Given the description of an element on the screen output the (x, y) to click on. 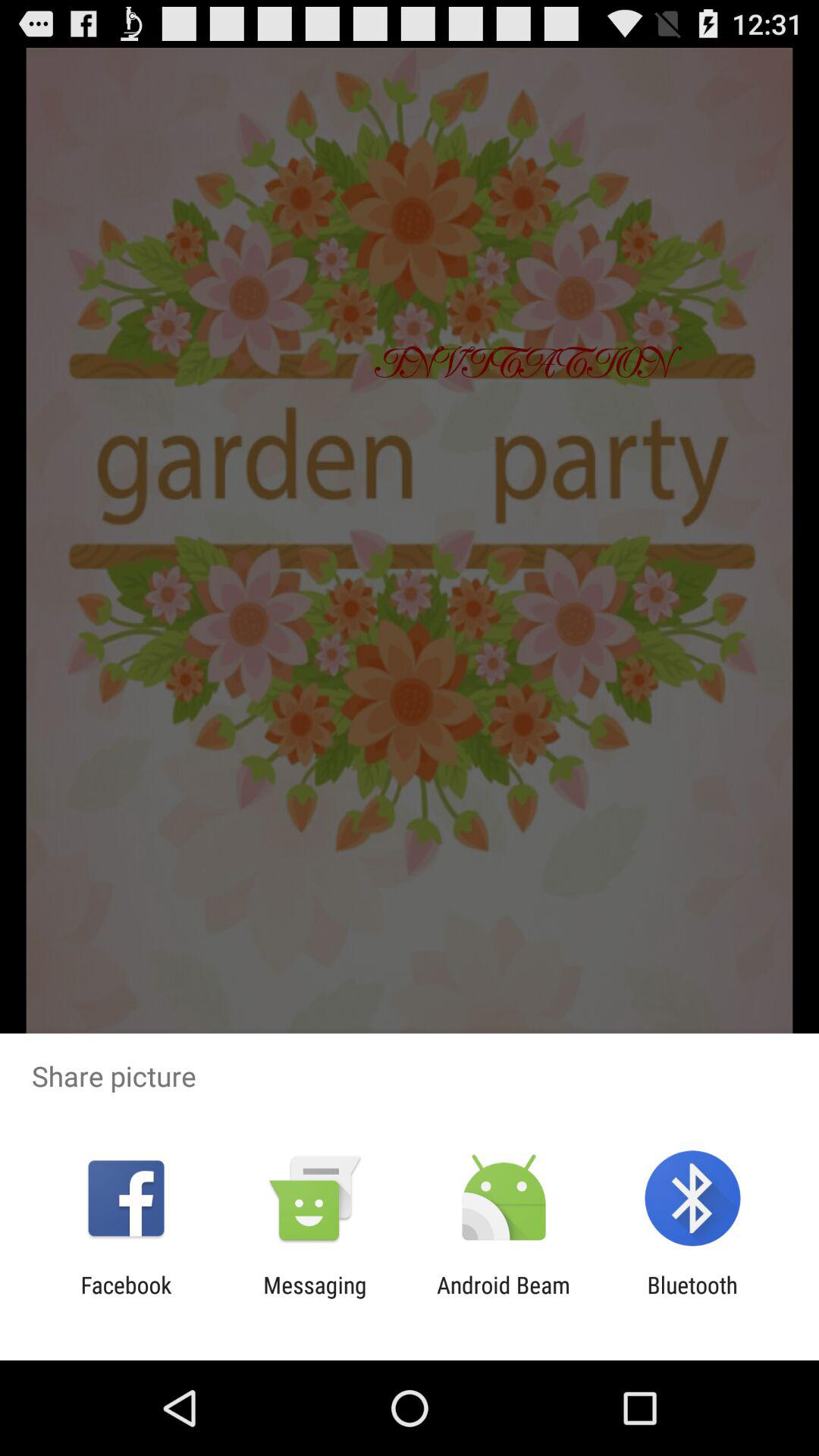
launch the bluetooth (692, 1298)
